Given the description of an element on the screen output the (x, y) to click on. 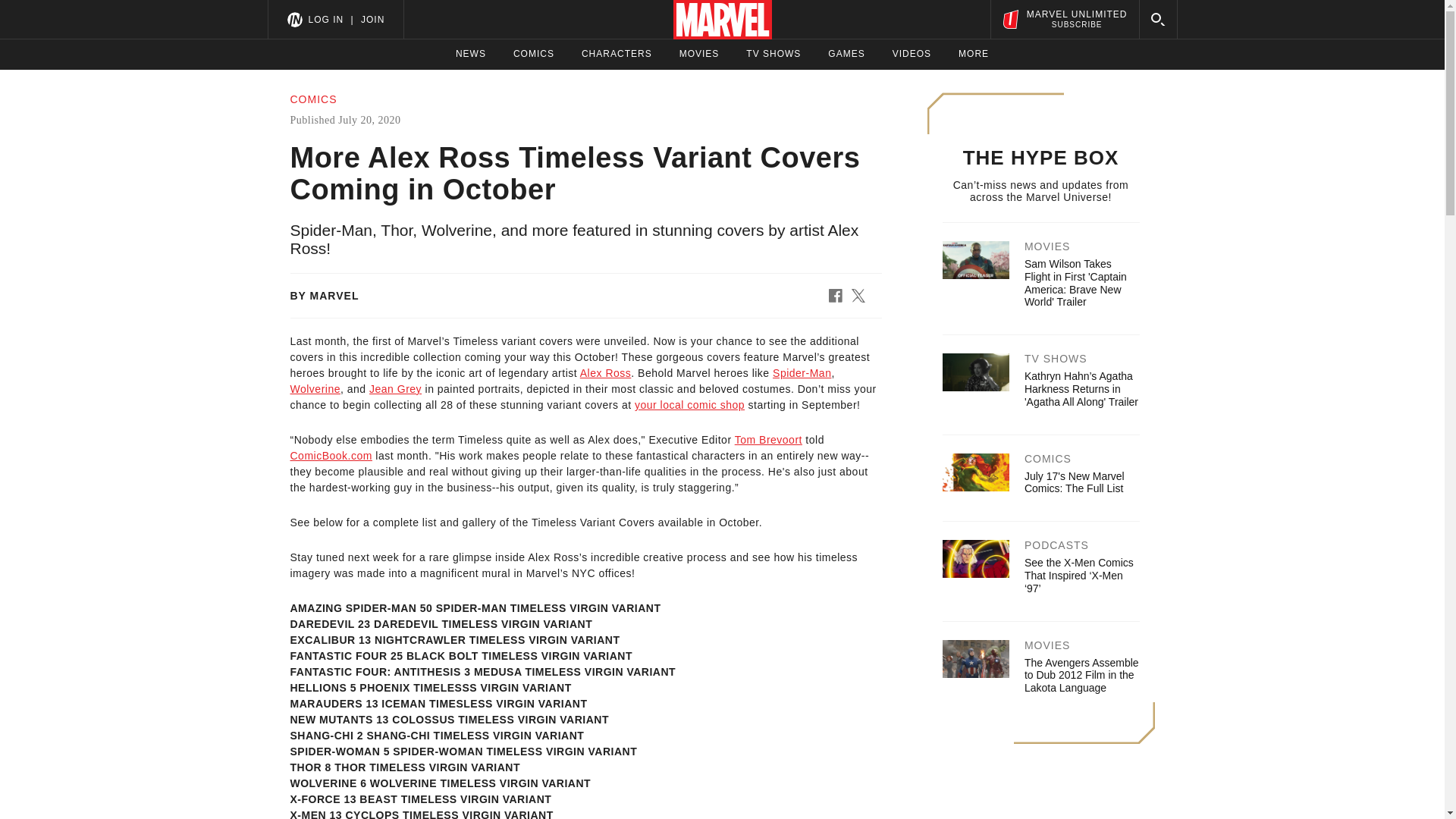
your local comic shop (689, 404)
JOIN (372, 18)
NEWS (1064, 19)
Jean Grey (470, 54)
Tom Brevoort (395, 388)
COMICS (768, 439)
ComicBook.com (533, 54)
Wolverine (330, 455)
VIDEOS (314, 388)
CHARACTERS (911, 54)
July 17's New Marvel Comics: The Full List (616, 54)
LOG IN (1074, 482)
